Given the description of an element on the screen output the (x, y) to click on. 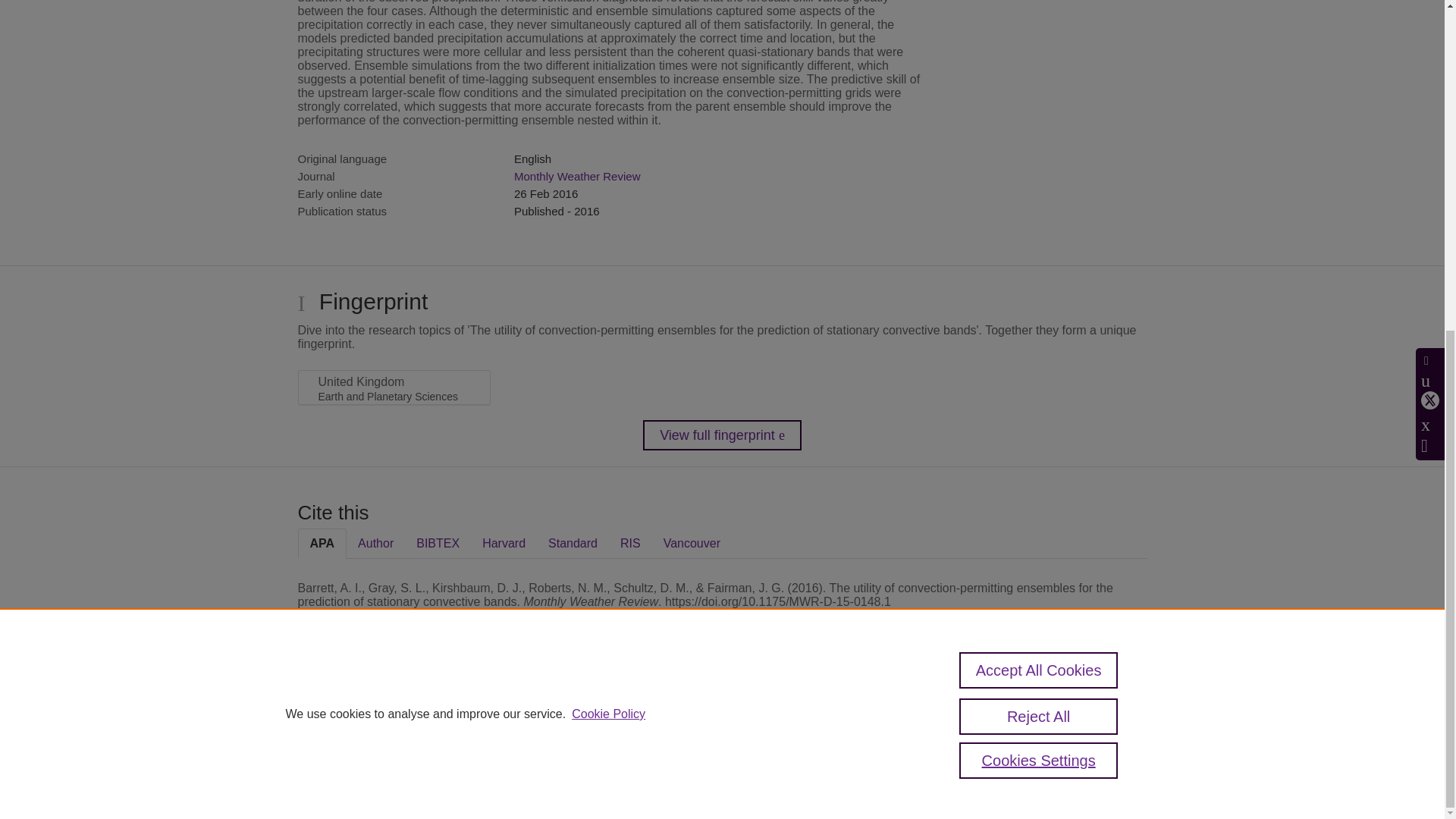
Cookies Settings (334, 780)
use of cookies (796, 759)
View full fingerprint (722, 435)
Pure (362, 707)
Scopus (394, 707)
Elsevier B.V. (506, 727)
Monthly Weather Review (576, 175)
